Given the description of an element on the screen output the (x, y) to click on. 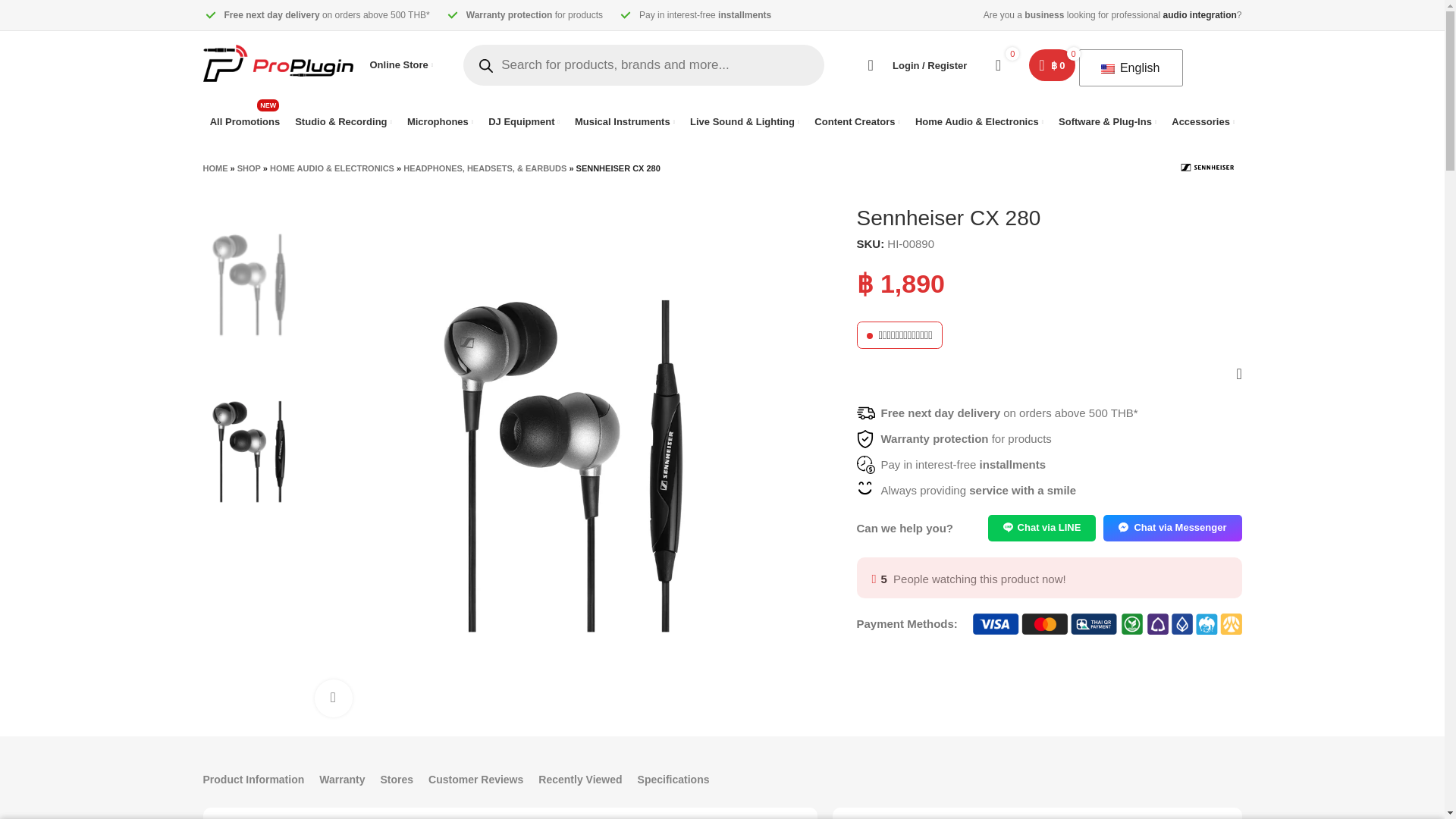
English (1127, 68)
SENNHEISER (1207, 167)
My Wishlist (998, 64)
English (1107, 68)
My account (910, 64)
audio integration (1198, 14)
Online Store (401, 64)
Shopping cart (1051, 64)
0 (998, 64)
English (244, 122)
